Given the description of an element on the screen output the (x, y) to click on. 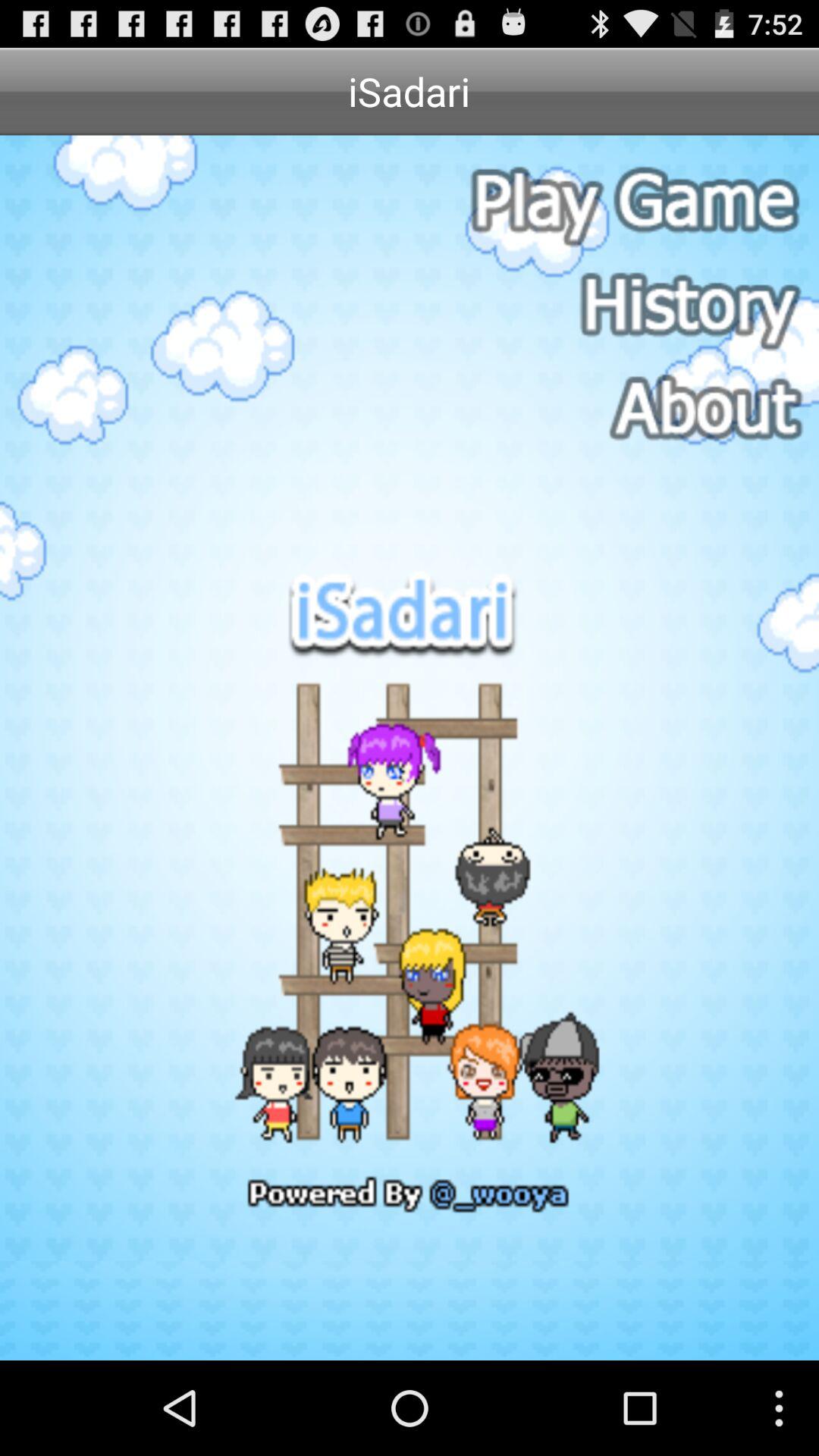
open the history screen (631, 305)
